Given the description of an element on the screen output the (x, y) to click on. 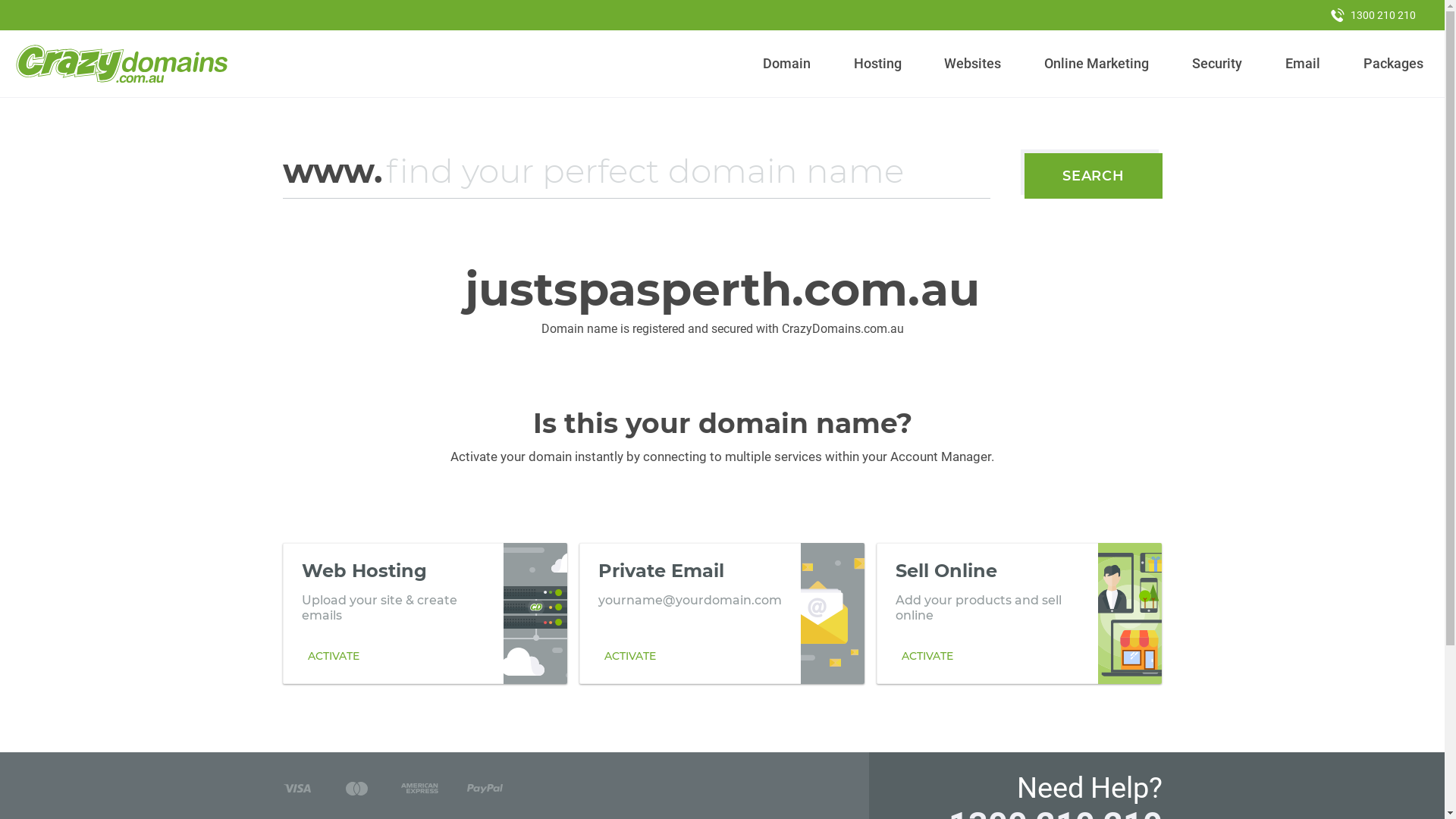
Hosting Element type: text (877, 63)
Sell Online
Add your products and sell online
ACTIVATE Element type: text (1018, 613)
Packages Element type: text (1392, 63)
Security Element type: text (1217, 63)
Online Marketing Element type: text (1096, 63)
Websites Element type: text (972, 63)
SEARCH Element type: text (1092, 175)
Domain Element type: text (786, 63)
1300 210 210 Element type: text (1373, 15)
Private Email
yourname@yourdomain.com
ACTIVATE Element type: text (721, 613)
Email Element type: text (1302, 63)
Web Hosting
Upload your site & create emails
ACTIVATE Element type: text (424, 613)
